Given the description of an element on the screen output the (x, y) to click on. 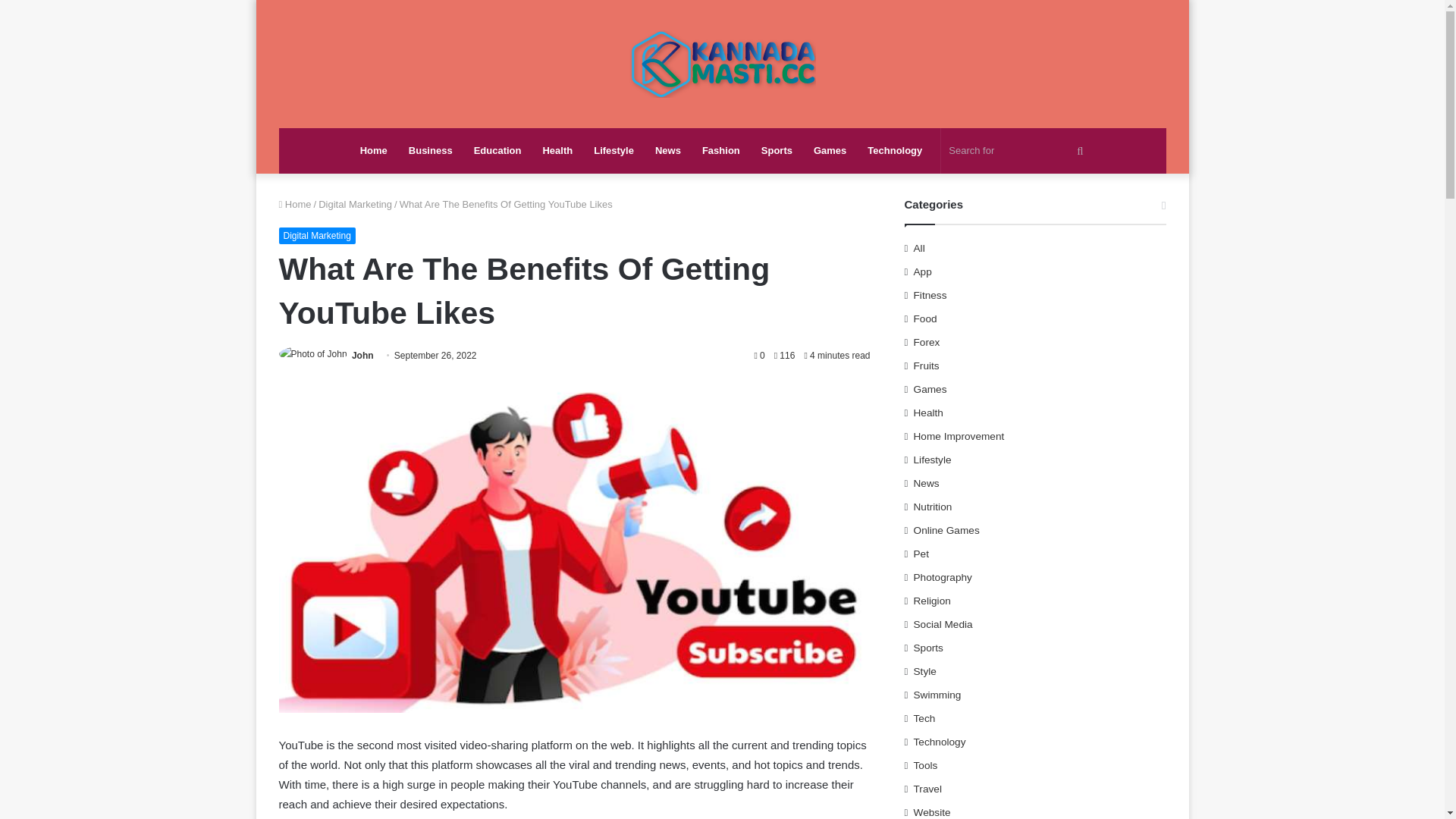
Search for (1017, 150)
Home (373, 150)
Business (430, 150)
Digital Marketing (317, 235)
Lifestyle (614, 150)
Digital Marketing (354, 204)
Kannadamasti (721, 63)
Sports (777, 150)
Education (497, 150)
Home (295, 204)
Games (830, 150)
Health (557, 150)
John (363, 355)
News (668, 150)
Fashion (721, 150)
